Given the description of an element on the screen output the (x, y) to click on. 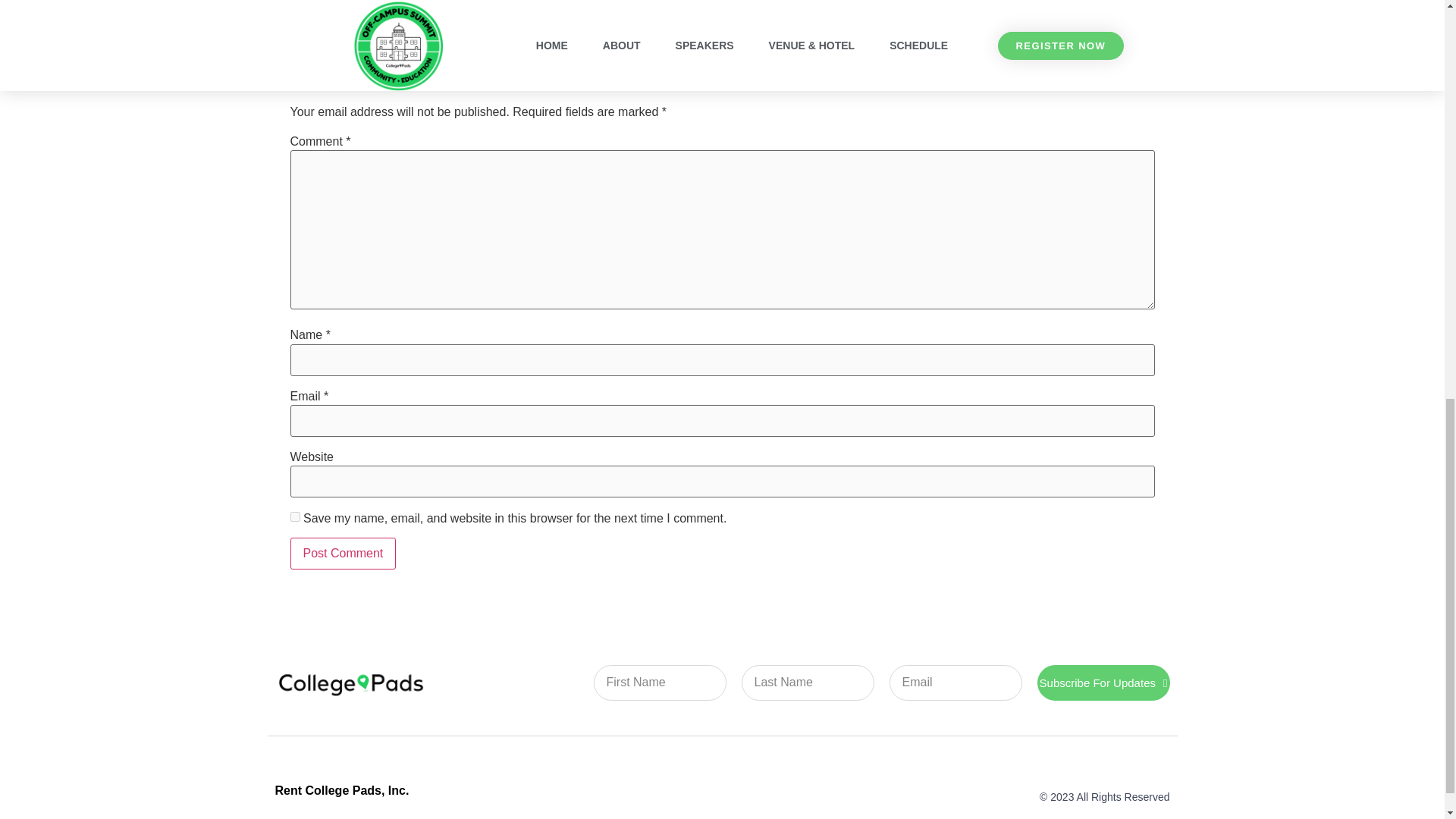
Post Comment (342, 553)
yes (294, 516)
Post Comment (342, 553)
Subscribe For Updates (1103, 683)
